Given the description of an element on the screen output the (x, y) to click on. 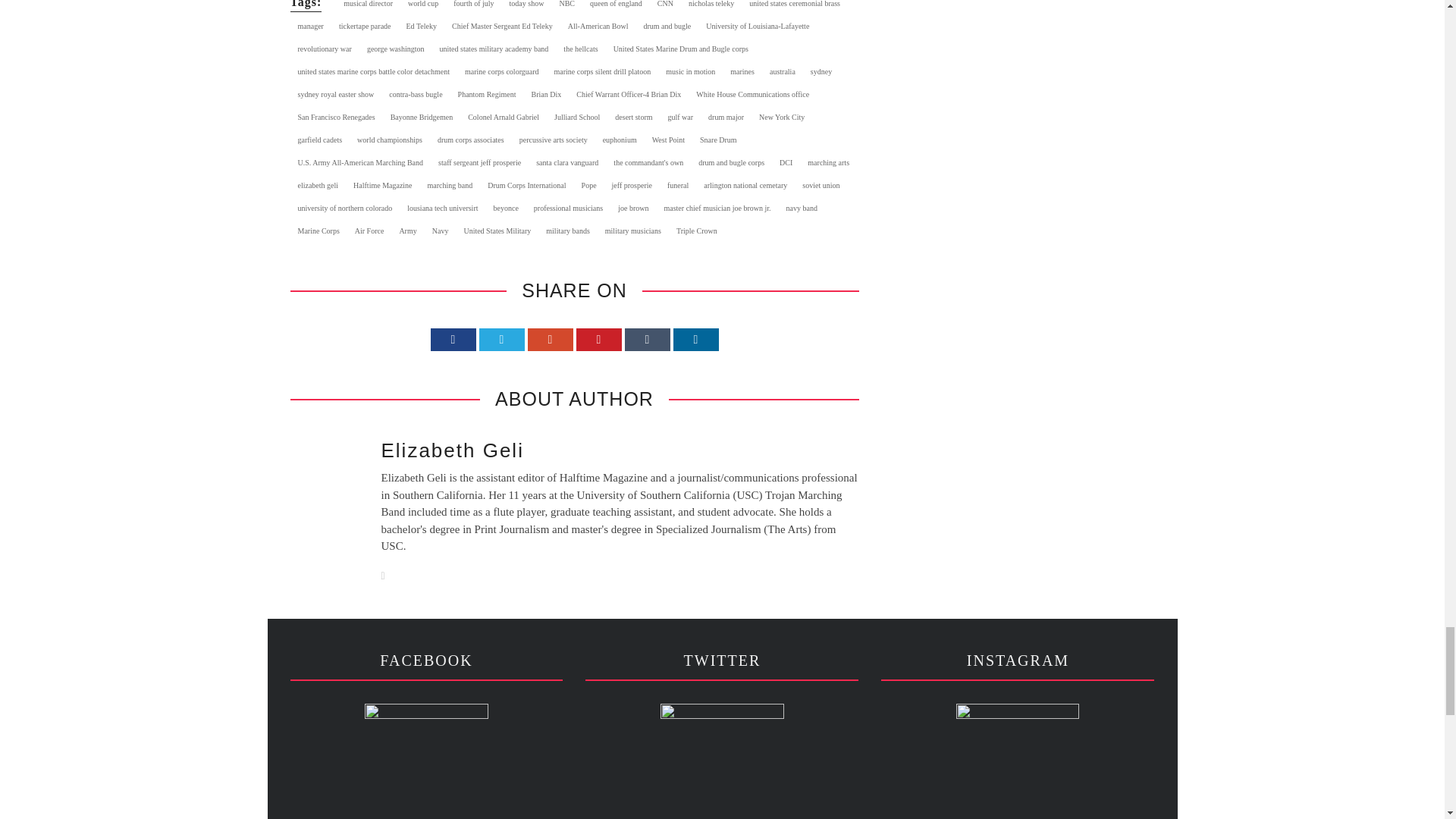
View all posts tagged queen of england (615, 7)
View all posts tagged NBC (566, 7)
View all posts tagged world cup (422, 7)
View all posts tagged musical director (368, 7)
View all posts tagged CNN (665, 7)
View all posts tagged fourth of july (472, 7)
View all posts tagged today show (526, 7)
